Given the description of an element on the screen output the (x, y) to click on. 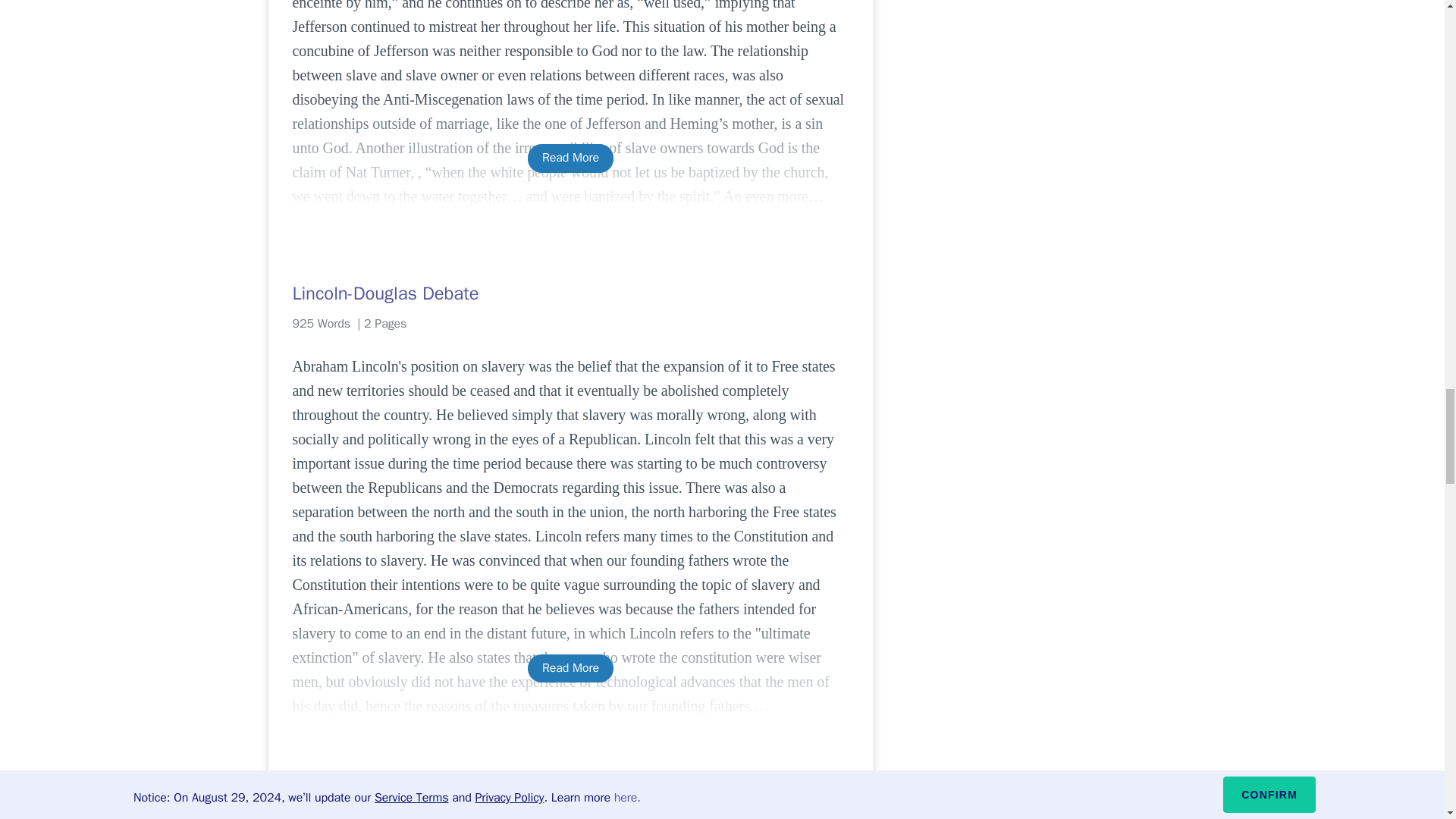
Lincoln-Douglas Debate (570, 293)
Thomas Jefferson And The Civil War (570, 802)
Read More (569, 157)
Read More (569, 668)
